Given the description of an element on the screen output the (x, y) to click on. 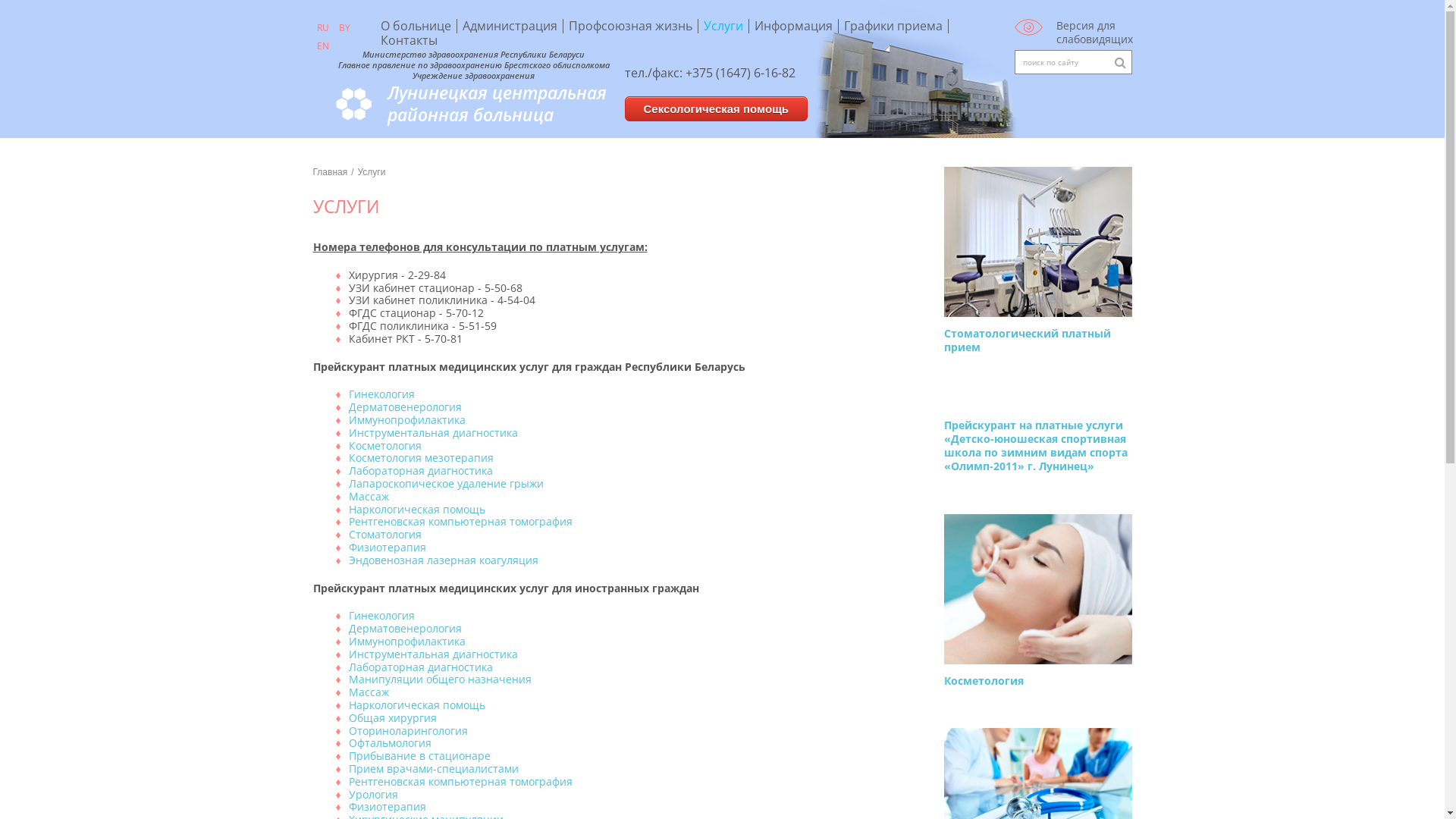
BY Element type: text (344, 27)
RU Element type: text (322, 27)
EN Element type: text (322, 46)
